Given the description of an element on the screen output the (x, y) to click on. 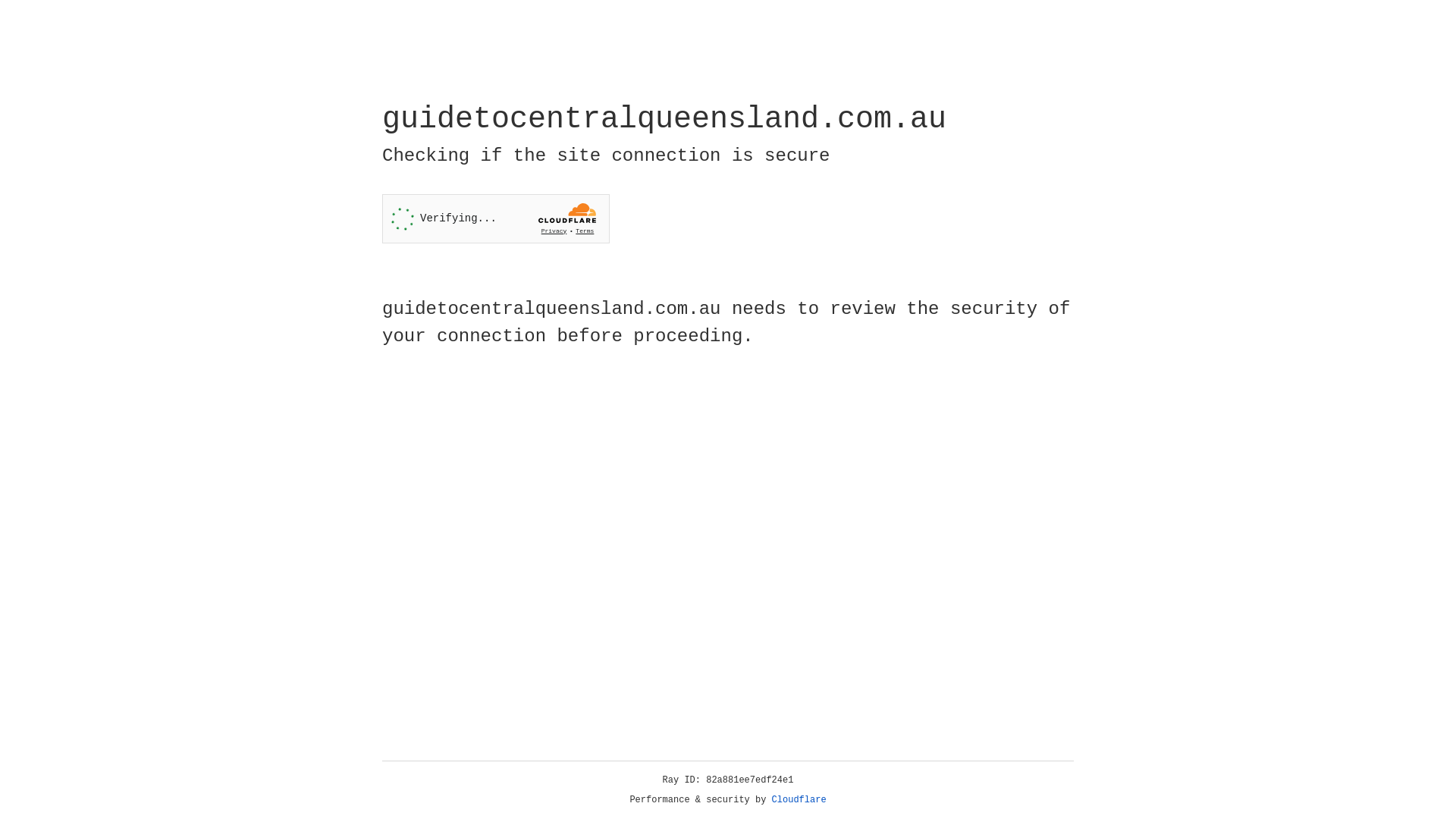
Cloudflare Element type: text (798, 799)
Widget containing a Cloudflare security challenge Element type: hover (495, 218)
